Given the description of an element on the screen output the (x, y) to click on. 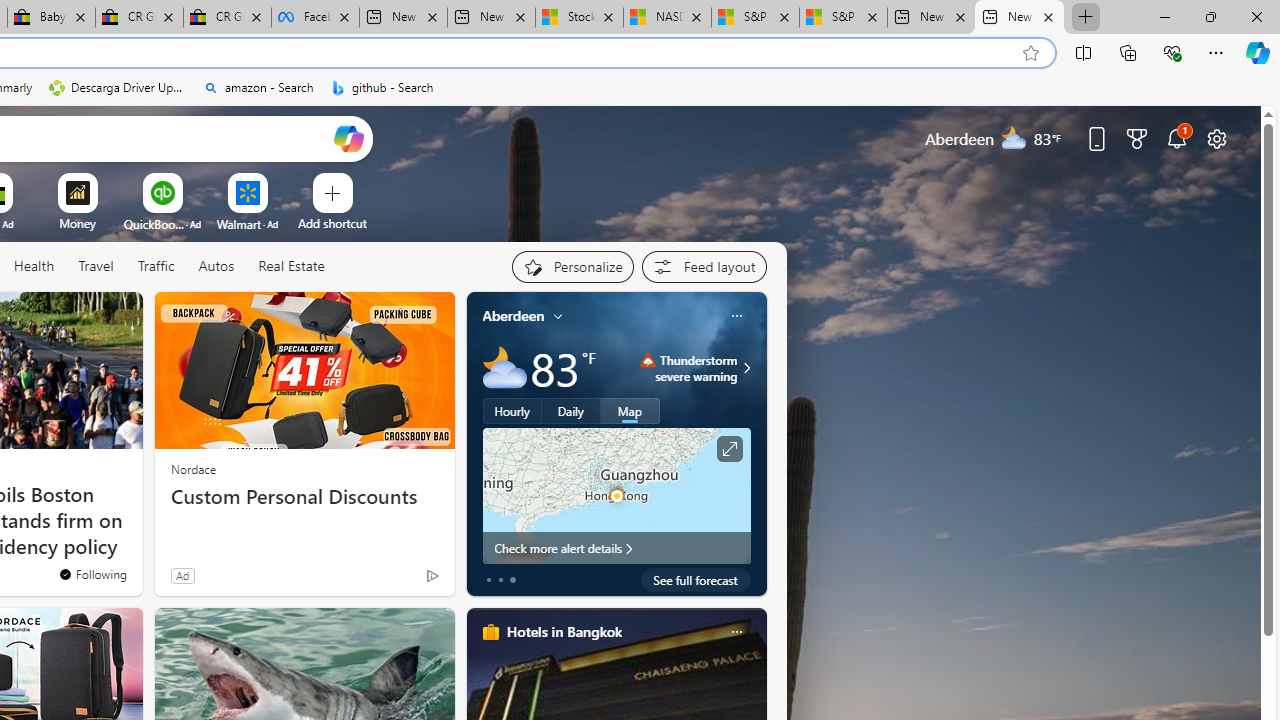
Notifications (1176, 138)
Traffic (155, 267)
Microsoft rewards (1137, 138)
hotels-header-icon (490, 632)
Mostly cloudy (504, 368)
Add a site (332, 223)
Travel (95, 267)
